Given the description of an element on the screen output the (x, y) to click on. 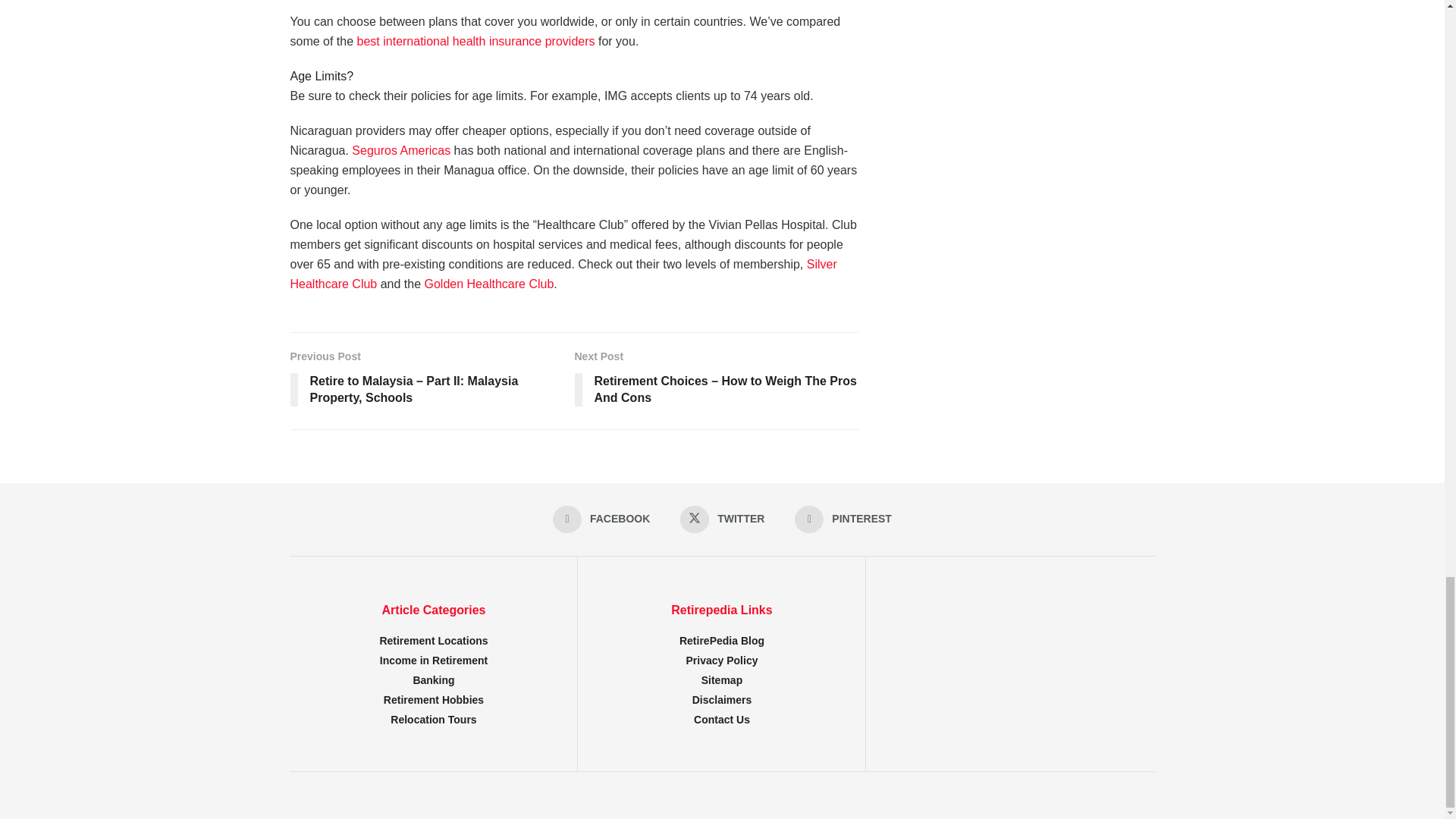
Seguros Americas (400, 150)
Golden Healthcare Club (489, 283)
best international health insurance providers (475, 41)
Silver Healthcare Club (562, 273)
